Given the description of an element on the screen output the (x, y) to click on. 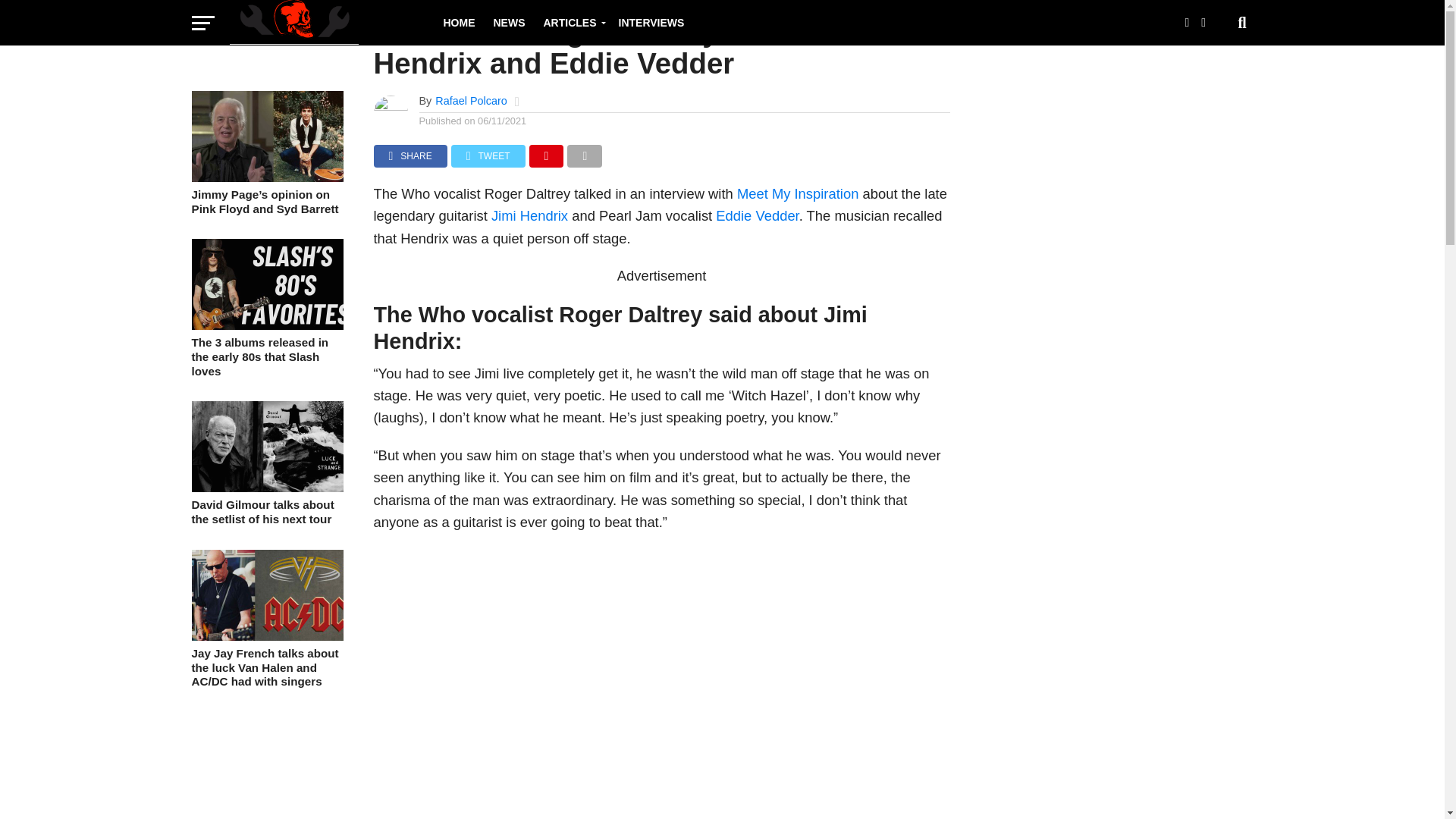
NEWS (508, 22)
David Gilmour talks about the setlist of his next tour (266, 487)
ARTICLES (571, 22)
Posts by Rafael Polcaro (470, 101)
The 3 albums released in the early 80s that Slash loves (266, 356)
HOME (458, 22)
INTERVIEWS (652, 22)
The 3 albums released in the early 80s that Slash loves (266, 325)
